Given the description of an element on the screen output the (x, y) to click on. 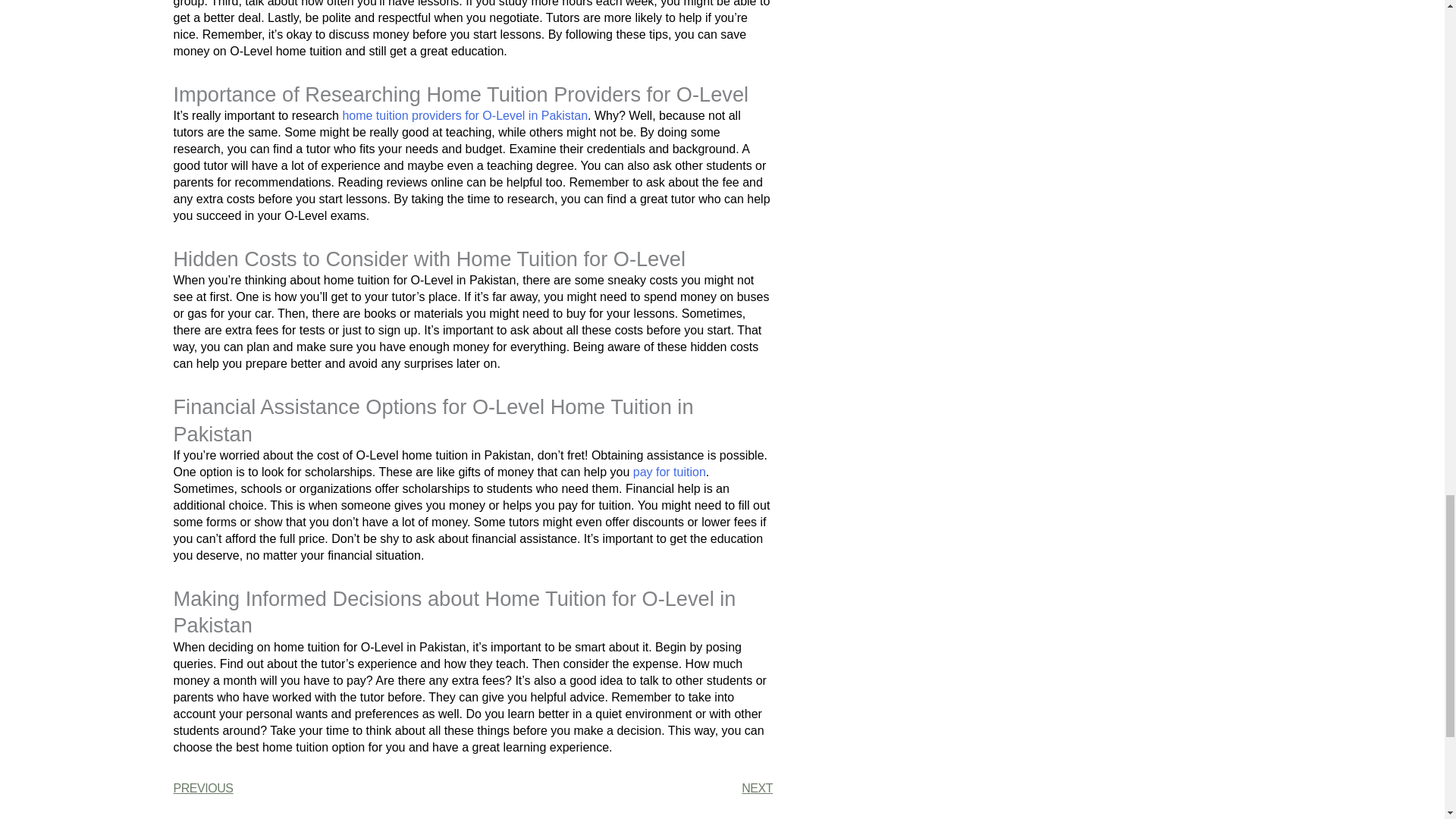
pay for tuition (669, 472)
NEXT (623, 788)
PREVIOUS (322, 788)
home tuition providers for O-Level in Pakistan (465, 115)
